Given the description of an element on the screen output the (x, y) to click on. 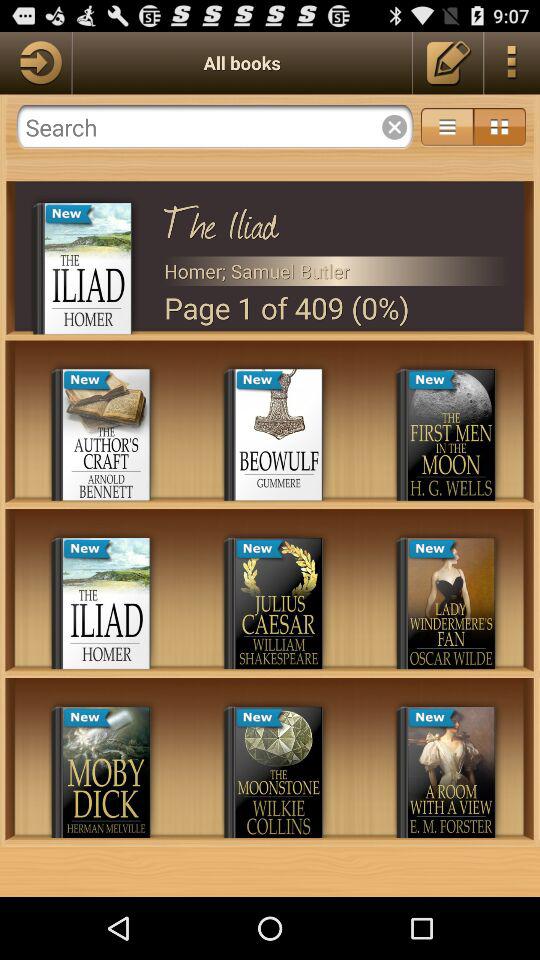
menu settings option (447, 127)
